Given the description of an element on the screen output the (x, y) to click on. 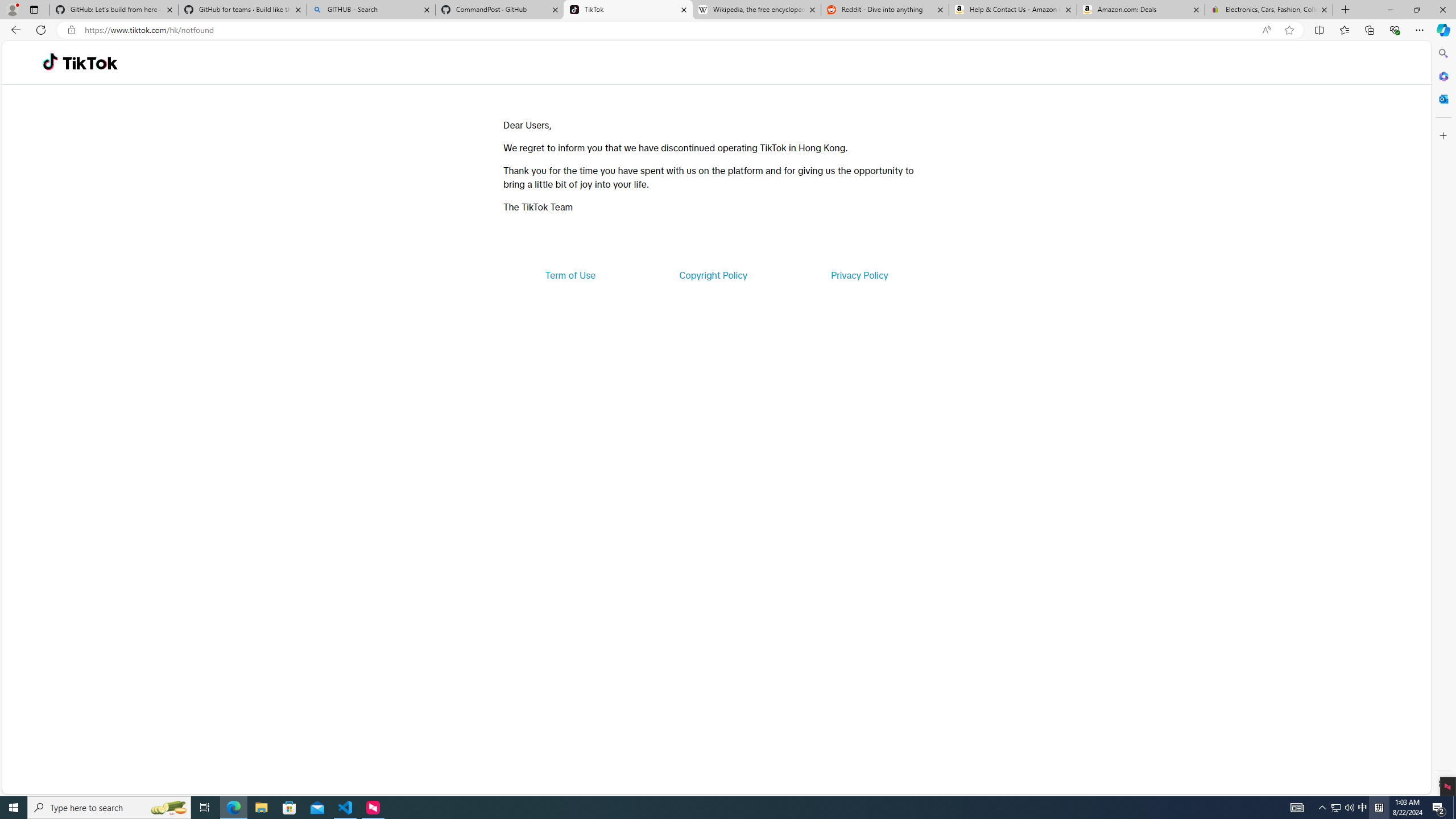
Reddit - Dive into anything (884, 9)
Help & Contact Us - Amazon Customer Service (1012, 9)
GITHUB - Search (370, 9)
Wikipedia, the free encyclopedia (756, 9)
TikTok (628, 9)
